Given the description of an element on the screen output the (x, y) to click on. 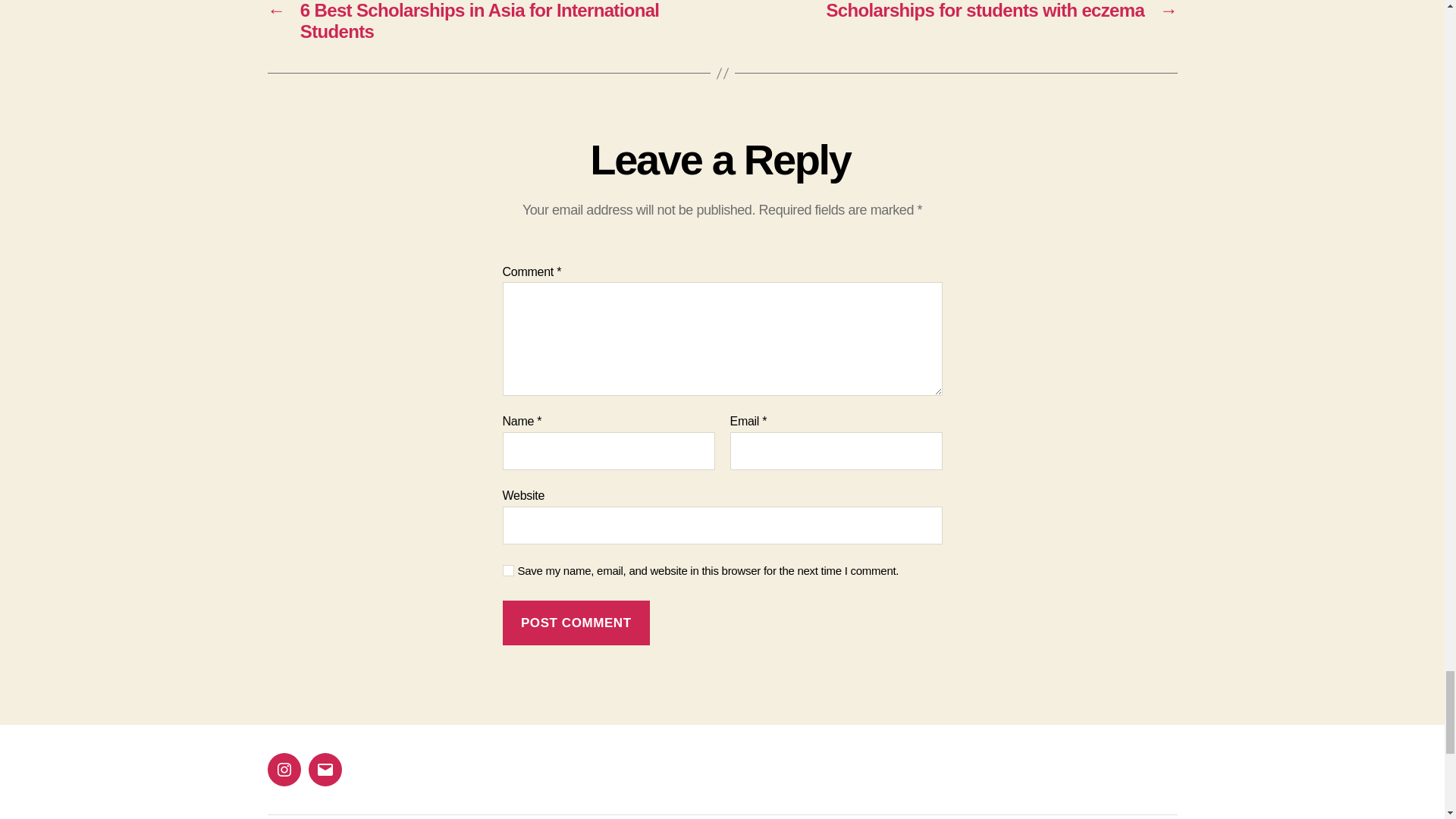
Email (323, 769)
Post Comment (575, 622)
Instagram (282, 769)
yes (507, 570)
Post Comment (575, 622)
